Given the description of an element on the screen output the (x, y) to click on. 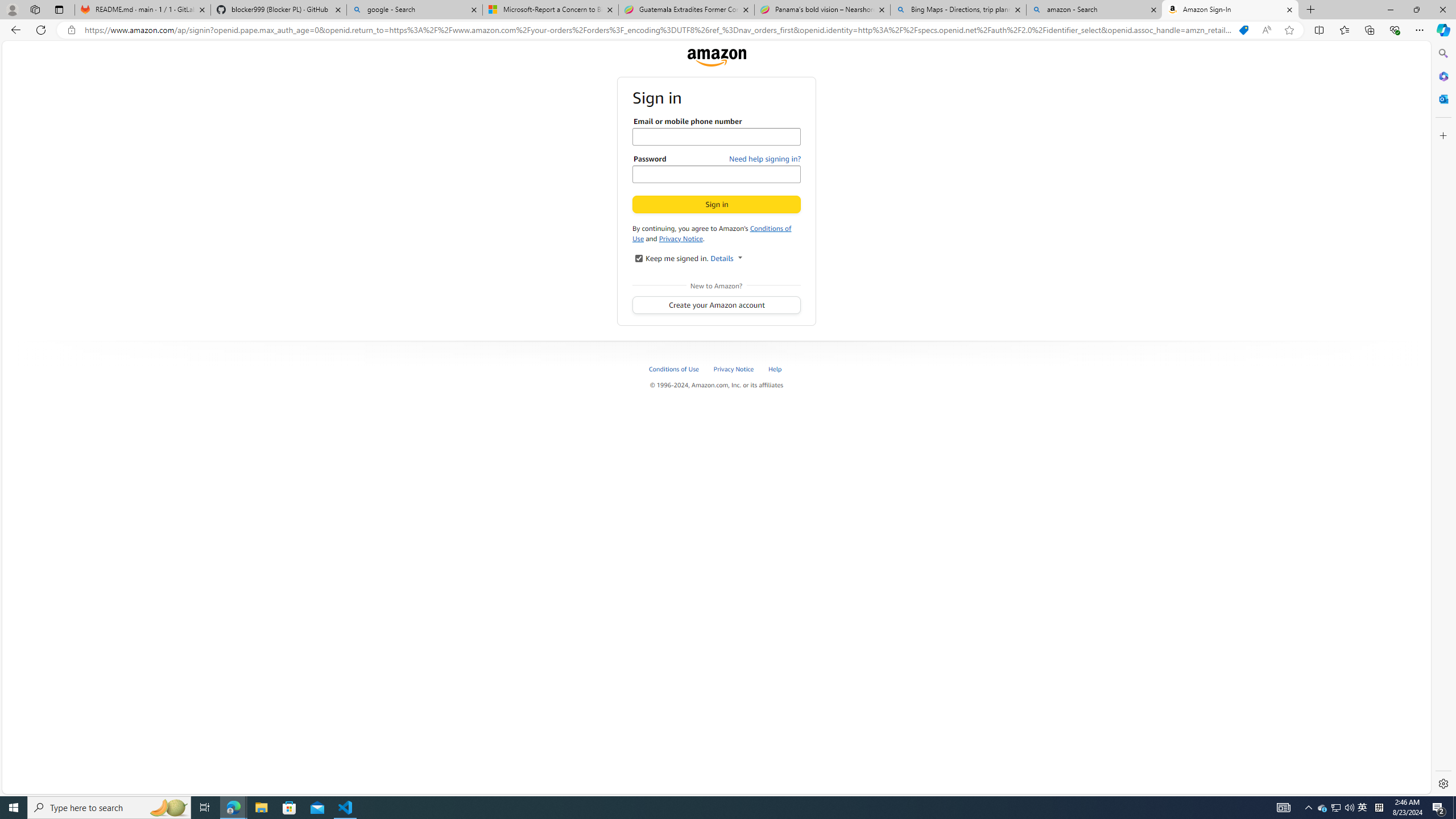
Privacy Notice  (740, 368)
Help  (775, 368)
Need help signing in? (764, 158)
Amazon (716, 57)
Amazon Sign-In (1230, 9)
Conditions of Use  (673, 368)
